Given the description of an element on the screen output the (x, y) to click on. 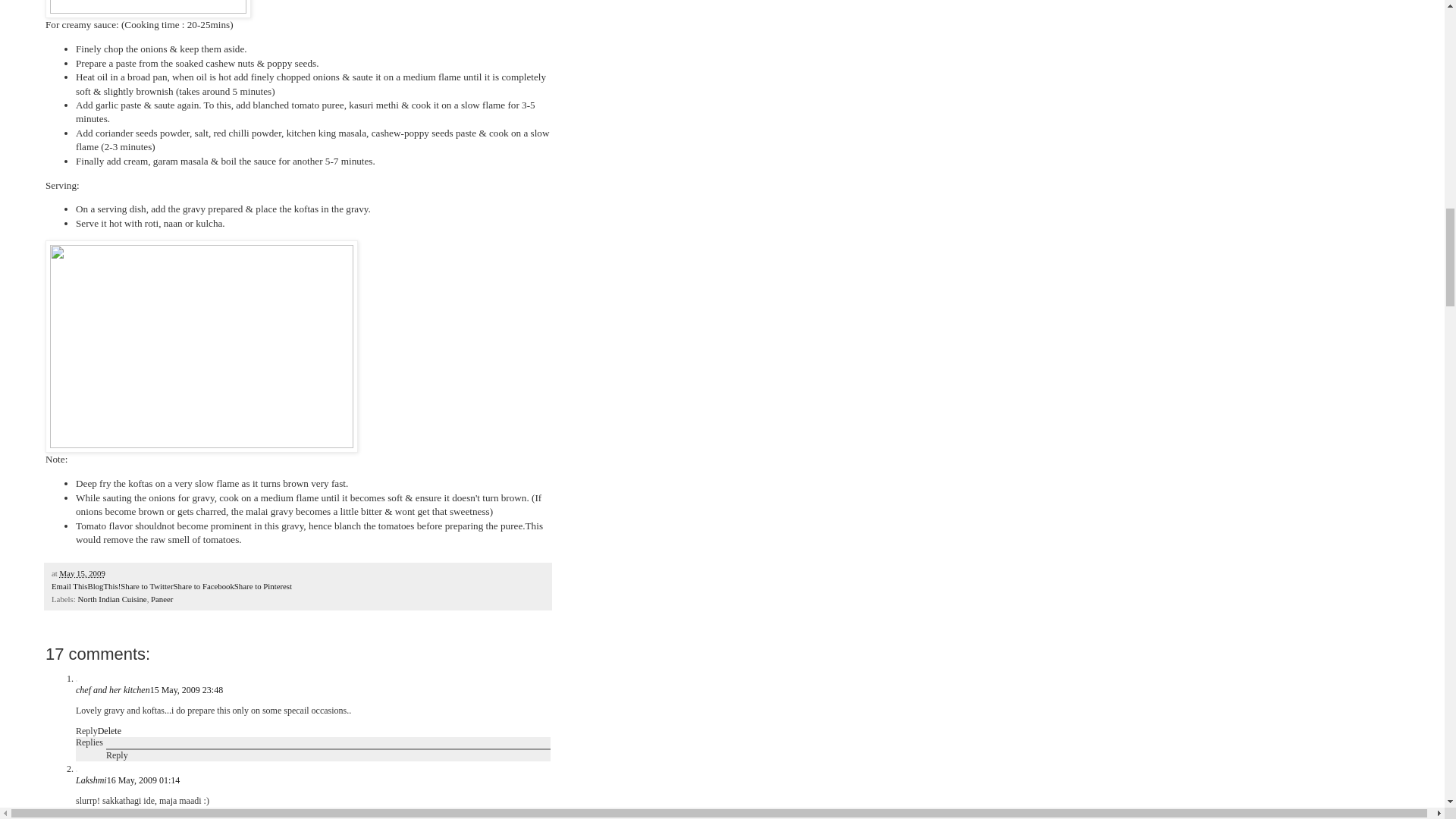
Lakshmi (90, 779)
Reply (86, 730)
Share to Twitter (146, 585)
May 15, 2009 (81, 573)
Email This (68, 585)
Paneer (162, 598)
permanent link (81, 573)
Share to Facebook (202, 585)
Share to Twitter (146, 585)
Email This (68, 585)
BlogThis! (103, 585)
Delete (108, 817)
15 May, 2009 23:48 (186, 689)
Email Post (113, 573)
chef and her kitchen (112, 689)
